Given the description of an element on the screen output the (x, y) to click on. 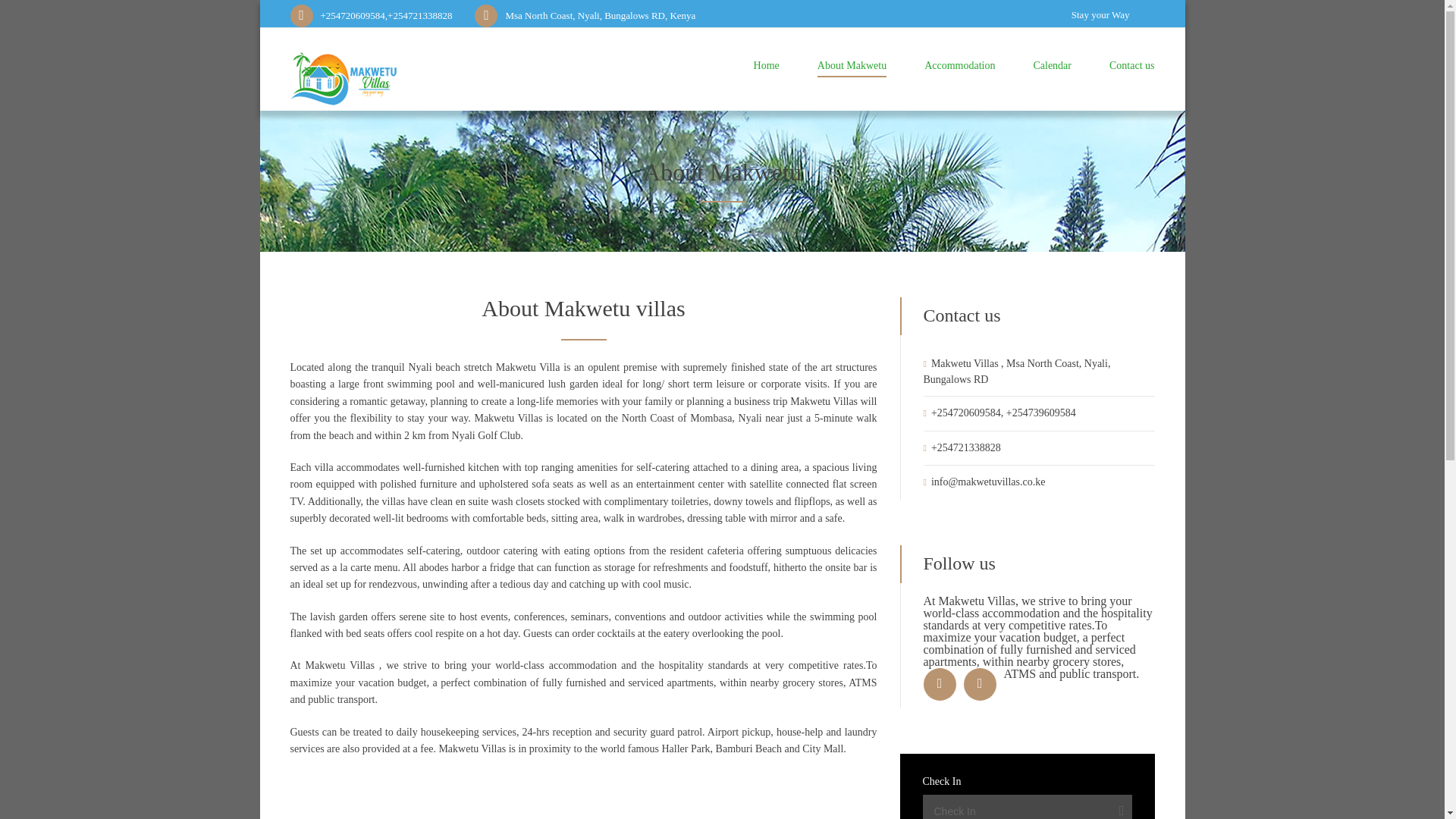
About Makwetu (851, 68)
Accommodation (959, 68)
Calendar (1051, 68)
Check In (1026, 806)
